Given the description of an element on the screen output the (x, y) to click on. 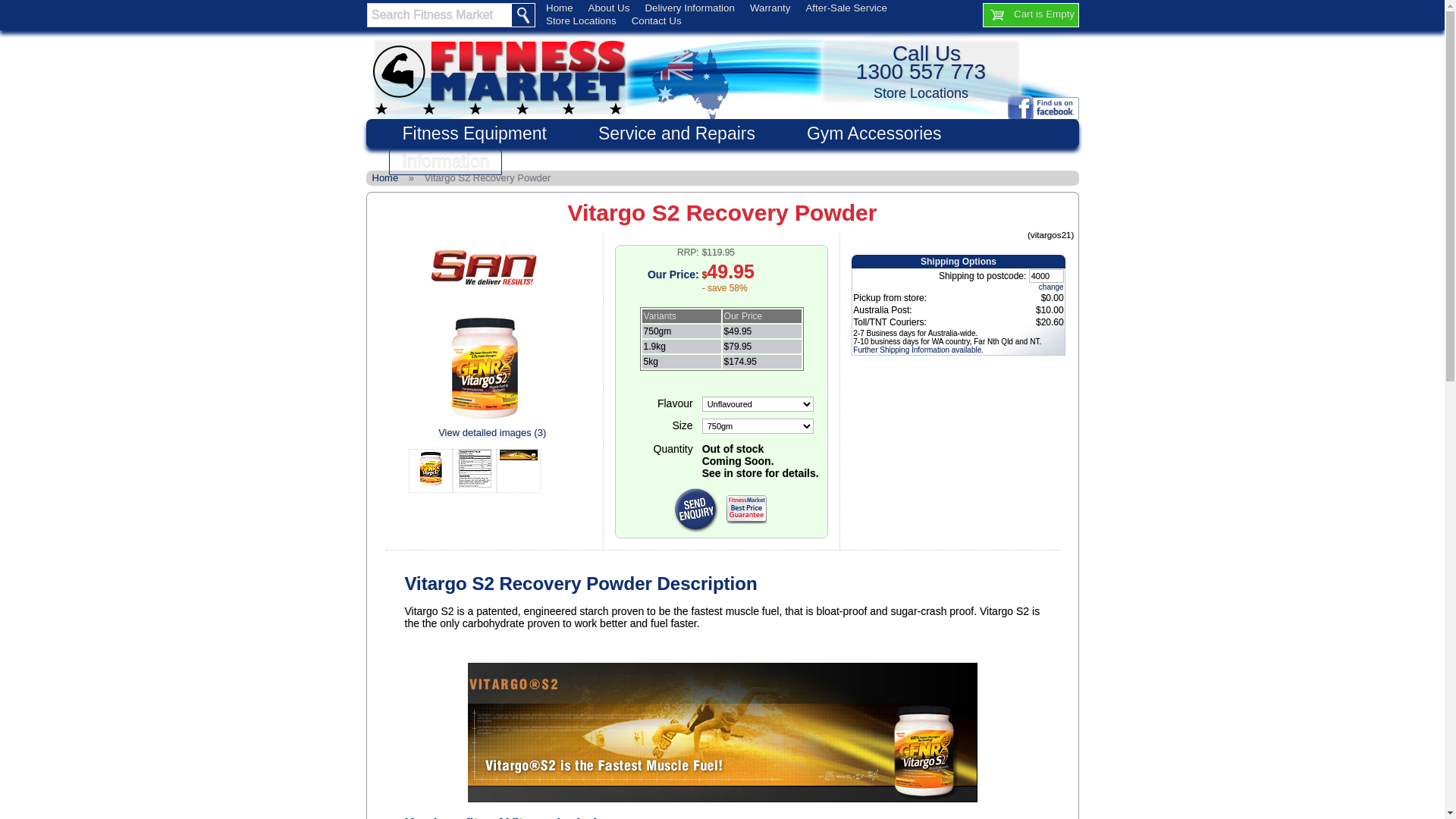
Cart is Empty Element type: text (1030, 15)
Further Shipping Information available. Element type: text (918, 349)
Warranty Element type: text (769, 7)
San Supplements Element type: hover (484, 283)
Information Element type: text (444, 161)
About Us Element type: text (609, 7)
Genr8 Vitargo s2 Recovery Powder Element type: hover (430, 470)
Vitargo Recovery Powder - Promo Element type: hover (518, 470)
Search Fitness Market Element type: hover (439, 15)
Vitargo Nutrition Panel Element type: hover (474, 470)
Home Element type: text (384, 177)
Found it cheaper? Contact us and we will beat their price. Element type: hover (745, 509)
Store Locations Element type: text (581, 20)
After-Sale Service Element type: text (845, 7)
change Element type: text (1050, 286)
Service and Repairs Element type: text (675, 133)
View detailed images (3) Element type: text (484, 432)
Gym Accessories Element type: text (873, 133)
Store Locations Element type: text (920, 92)
Contact Us Element type: text (656, 20)
Search Fitness Market Element type: text (439, 15)
Delivery Information Element type: text (689, 7)
Fitness Equipment Element type: text (473, 133)
Call Us
1300 557 773 Element type: text (920, 62)
Home Element type: text (559, 7)
